Given the description of an element on the screen output the (x, y) to click on. 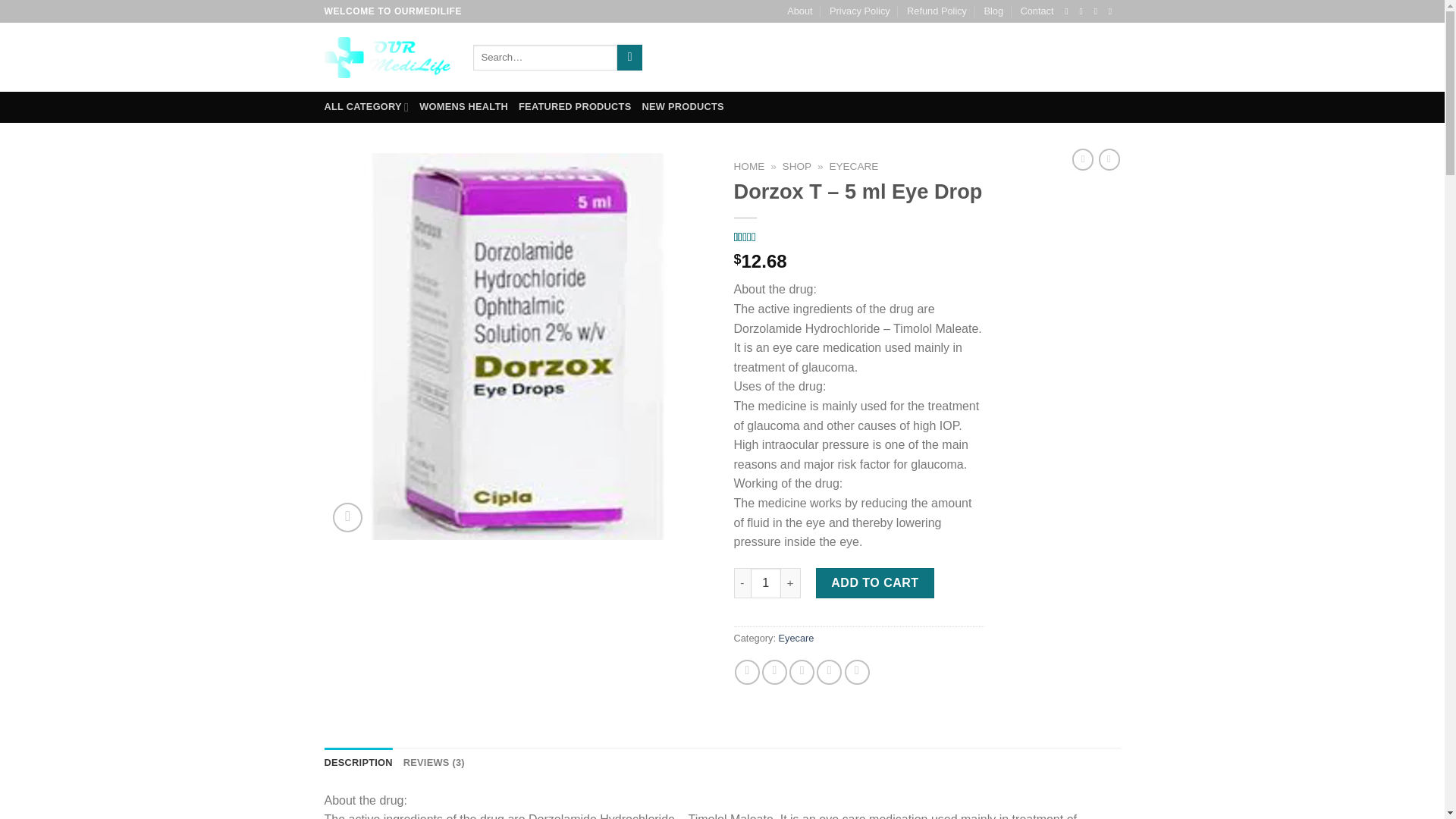
Contact (1036, 11)
Refund Policy (936, 11)
Share on LinkedIn (856, 672)
Zoom (347, 517)
1 (765, 583)
ALL CATEGORY (366, 106)
LOGIN (991, 57)
Pin on Pinterest (828, 672)
Email to a Friend (801, 672)
Cart (1074, 57)
Search (629, 57)
Our Medi Life - Best Pharmacy In World (386, 56)
Privacy Policy (859, 11)
About (799, 11)
Share on Facebook (747, 672)
